Given the description of an element on the screen output the (x, y) to click on. 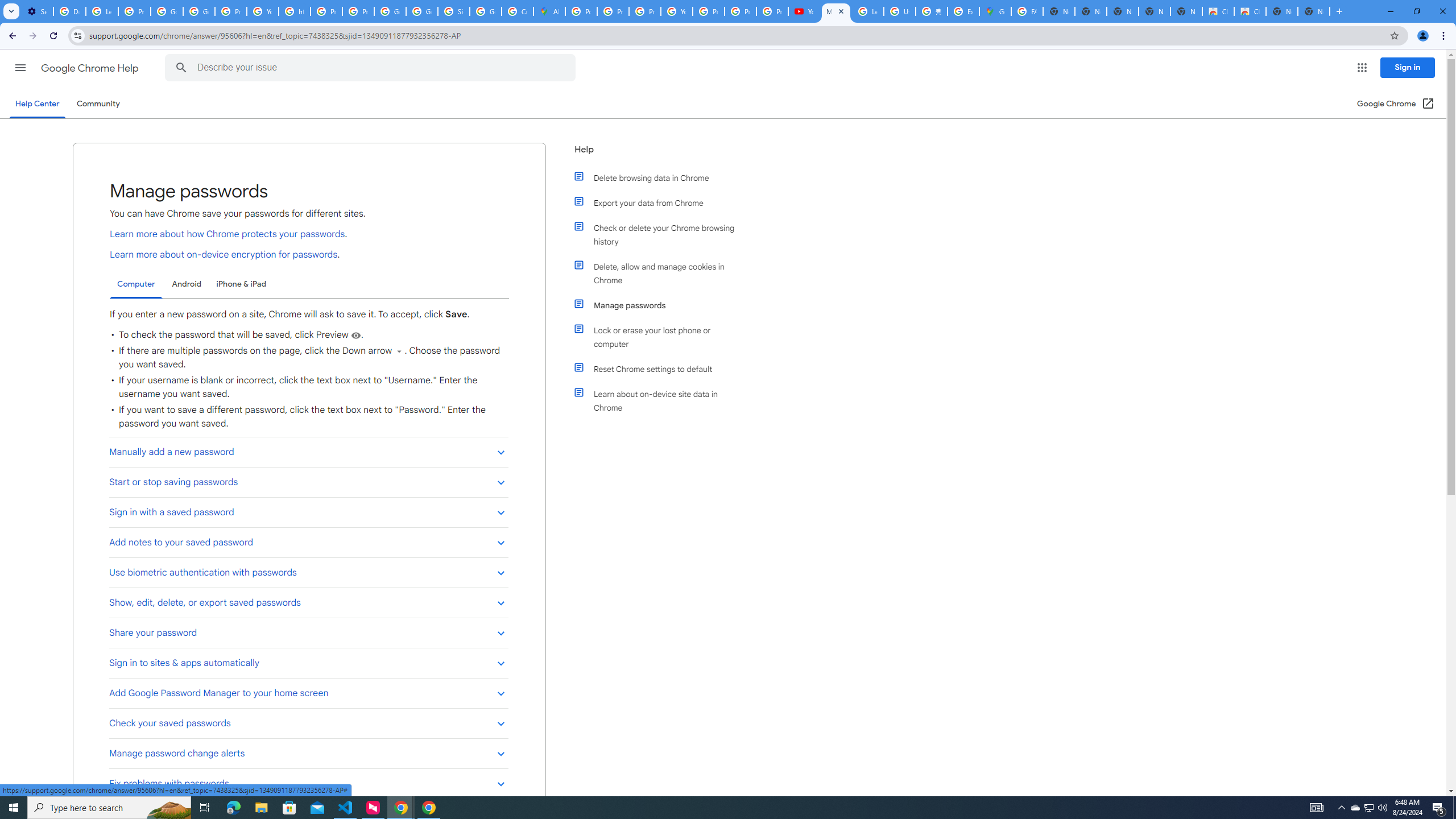
YouTube (676, 11)
Sign in - Google Accounts (453, 11)
Lock or erase your lost phone or computer (661, 336)
Use biometric authentication with passwords (308, 572)
Privacy Checkup (772, 11)
Add Google Password Manager to your home screen (308, 693)
Learn how to find your photos - Google Photos Help (101, 11)
Show, edit, delete, or export saved passwords (308, 602)
